Given the description of an element on the screen output the (x, y) to click on. 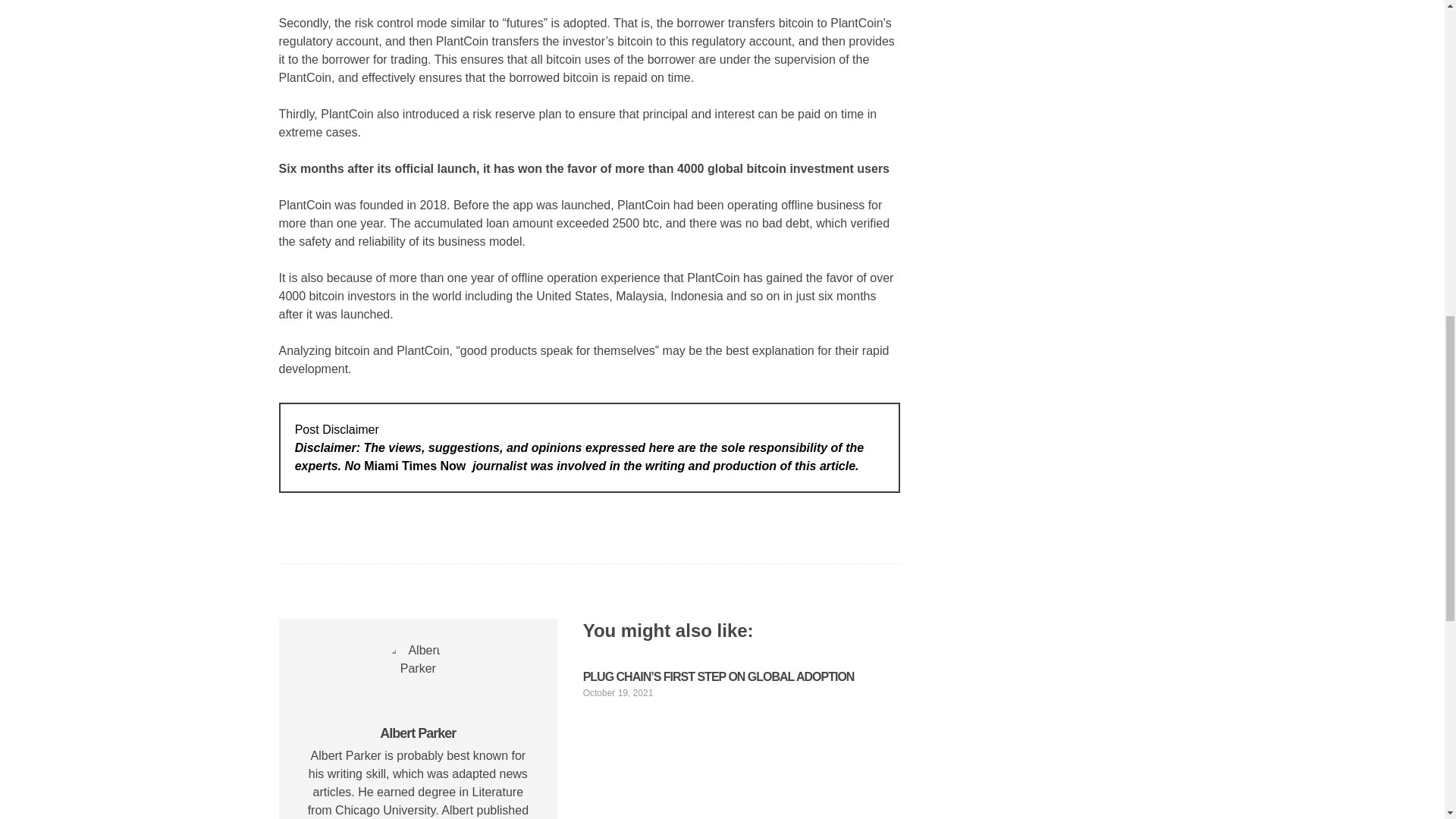
Albert Parker (417, 733)
